Given the description of an element on the screen output the (x, y) to click on. 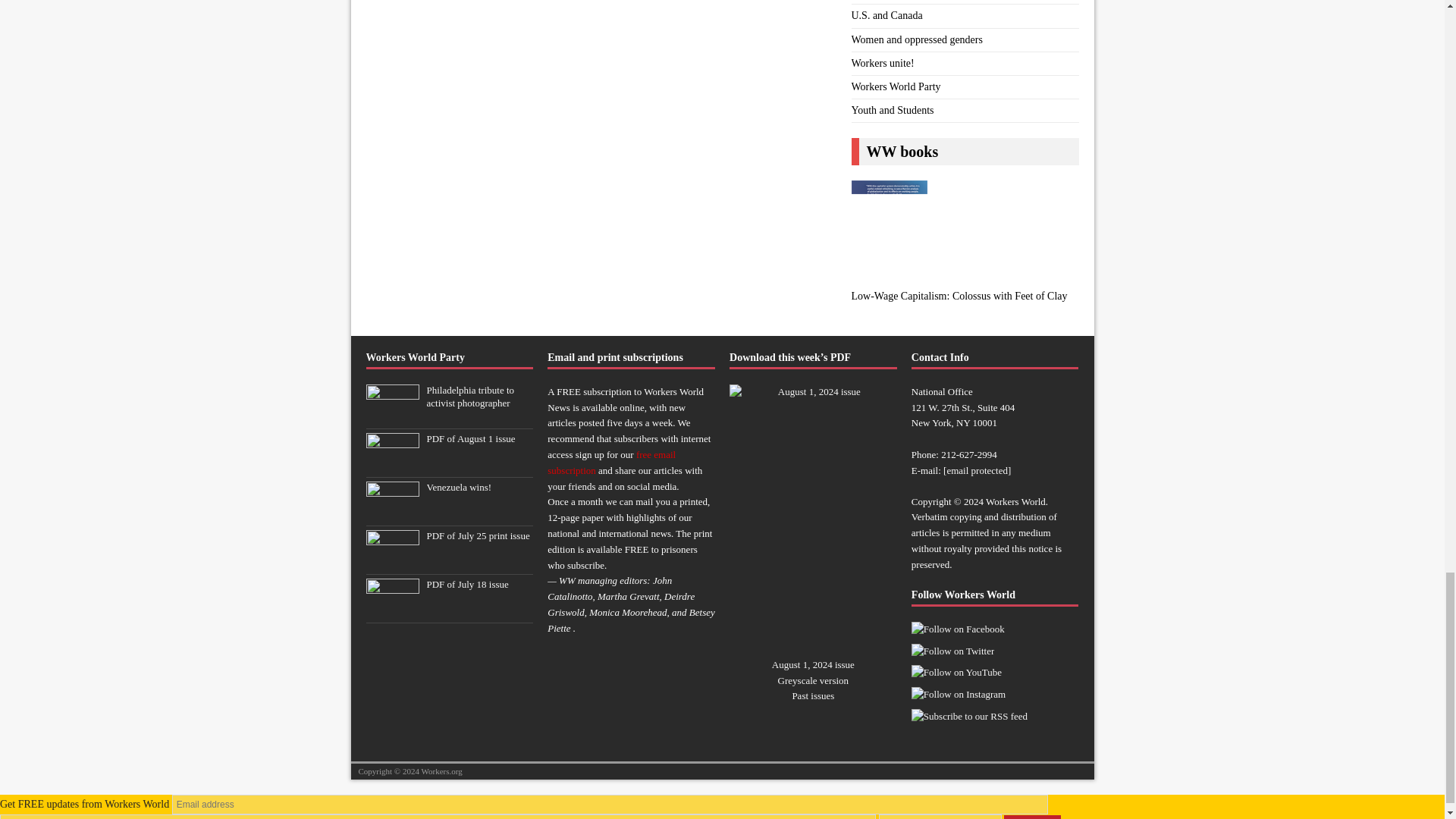
Venezuela wins! (459, 487)
PDF of July 18 issue (392, 609)
Philadelphia tribute to activist photographer (392, 415)
PDF of July 18 issue (467, 583)
PDF of July 25 print issue (392, 561)
Venezuela wins! (392, 512)
PDF of July 25 print issue (477, 535)
PDF of August 1 issue (392, 464)
Philadelphia tribute to activist photographer (469, 396)
PDF of August 1 issue (470, 438)
